Given the description of an element on the screen output the (x, y) to click on. 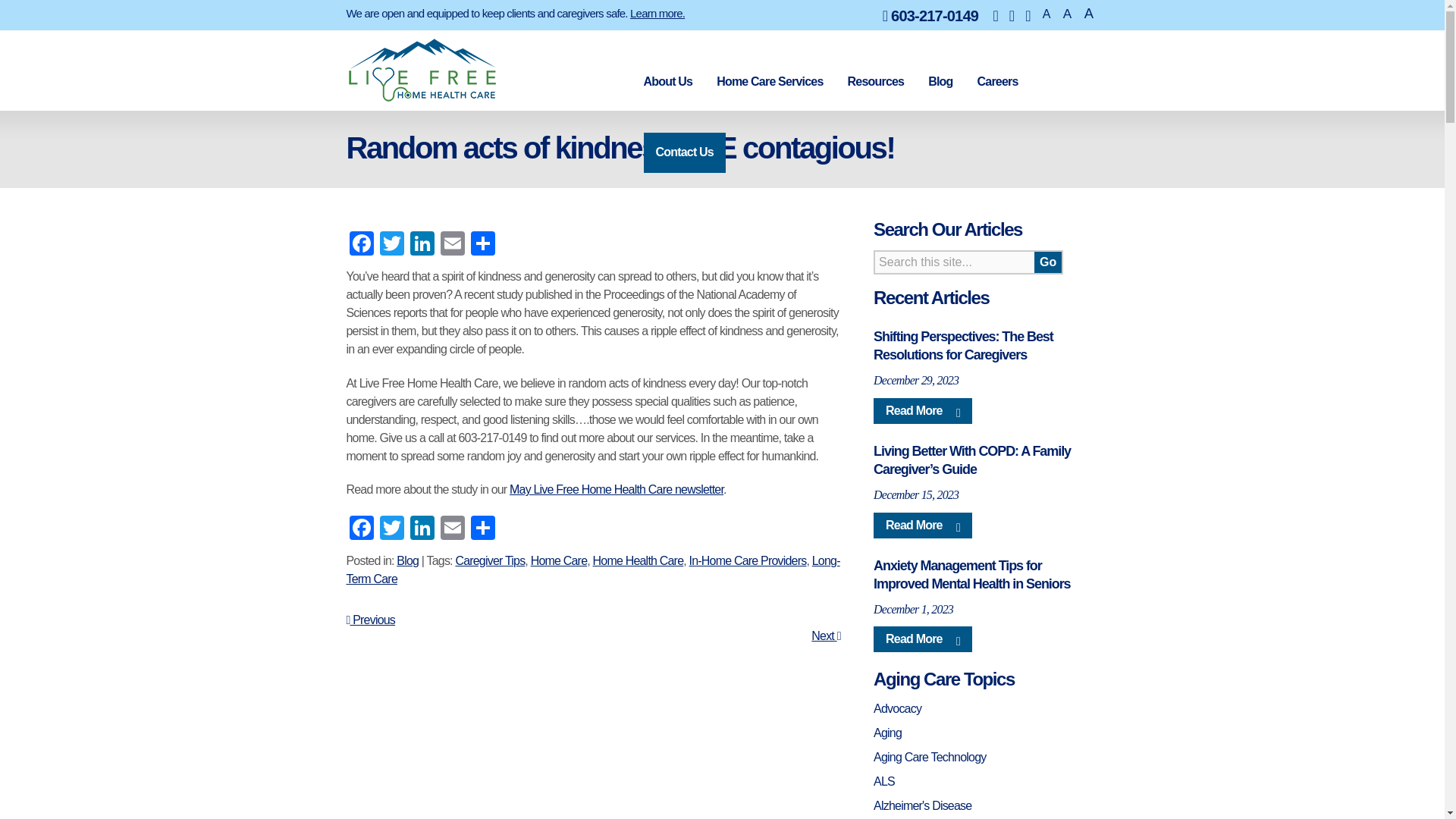
Resources (875, 82)
Email (451, 242)
Contact Us (684, 152)
Email (451, 242)
Careers (996, 82)
About Us (668, 82)
LinkedIn (421, 242)
Blog (940, 82)
LinkedIn (421, 527)
Twitter (390, 242)
603-217-0149 (930, 15)
Facebook (360, 242)
Facebook (360, 242)
Click to call (930, 15)
Home Care Services (769, 82)
